Given the description of an element on the screen output the (x, y) to click on. 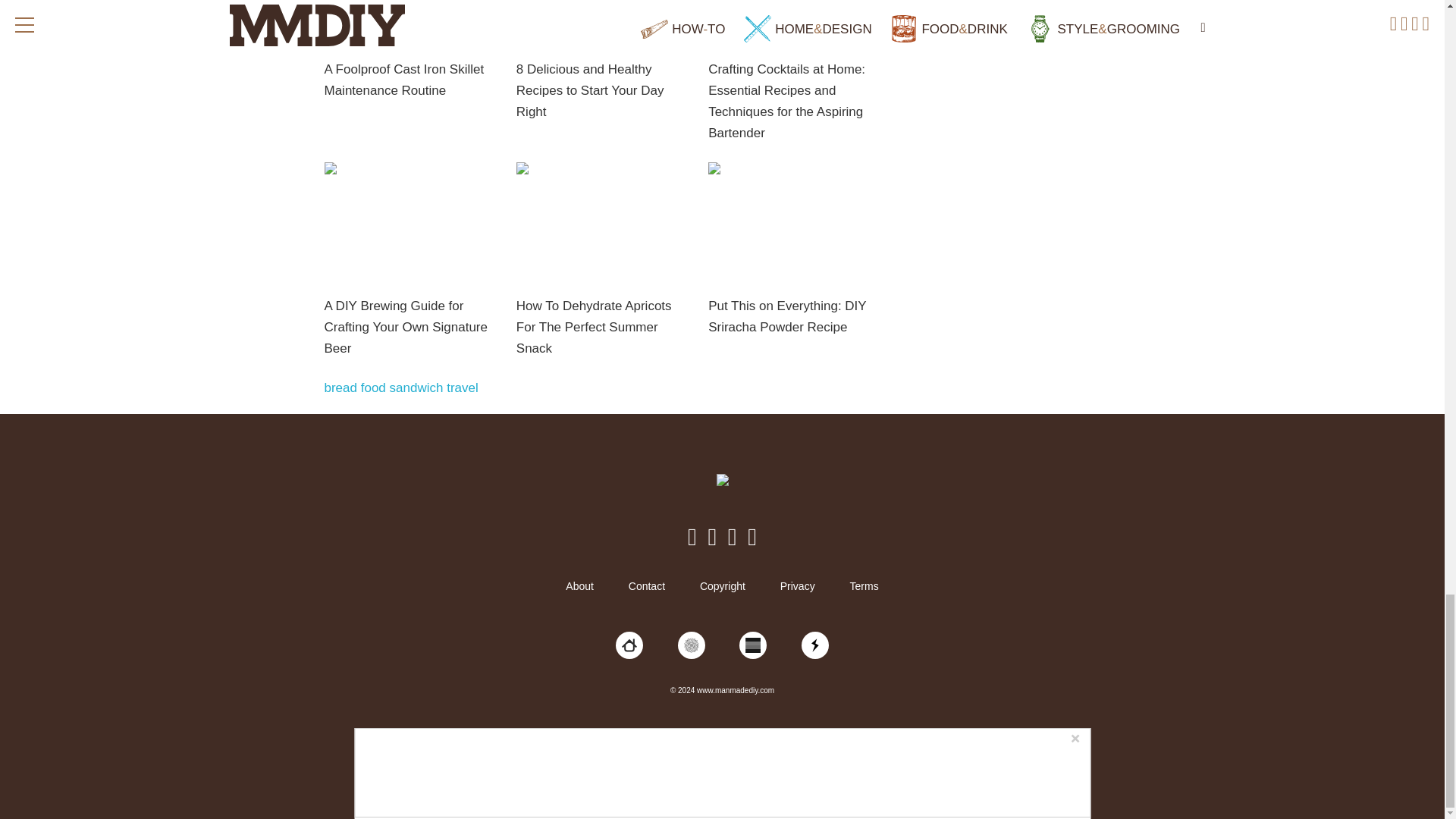
Higher Perspectives (691, 644)
Slow Robot (815, 644)
I Waste So Much Time (753, 644)
Decoist (629, 644)
